Given the description of an element on the screen output the (x, y) to click on. 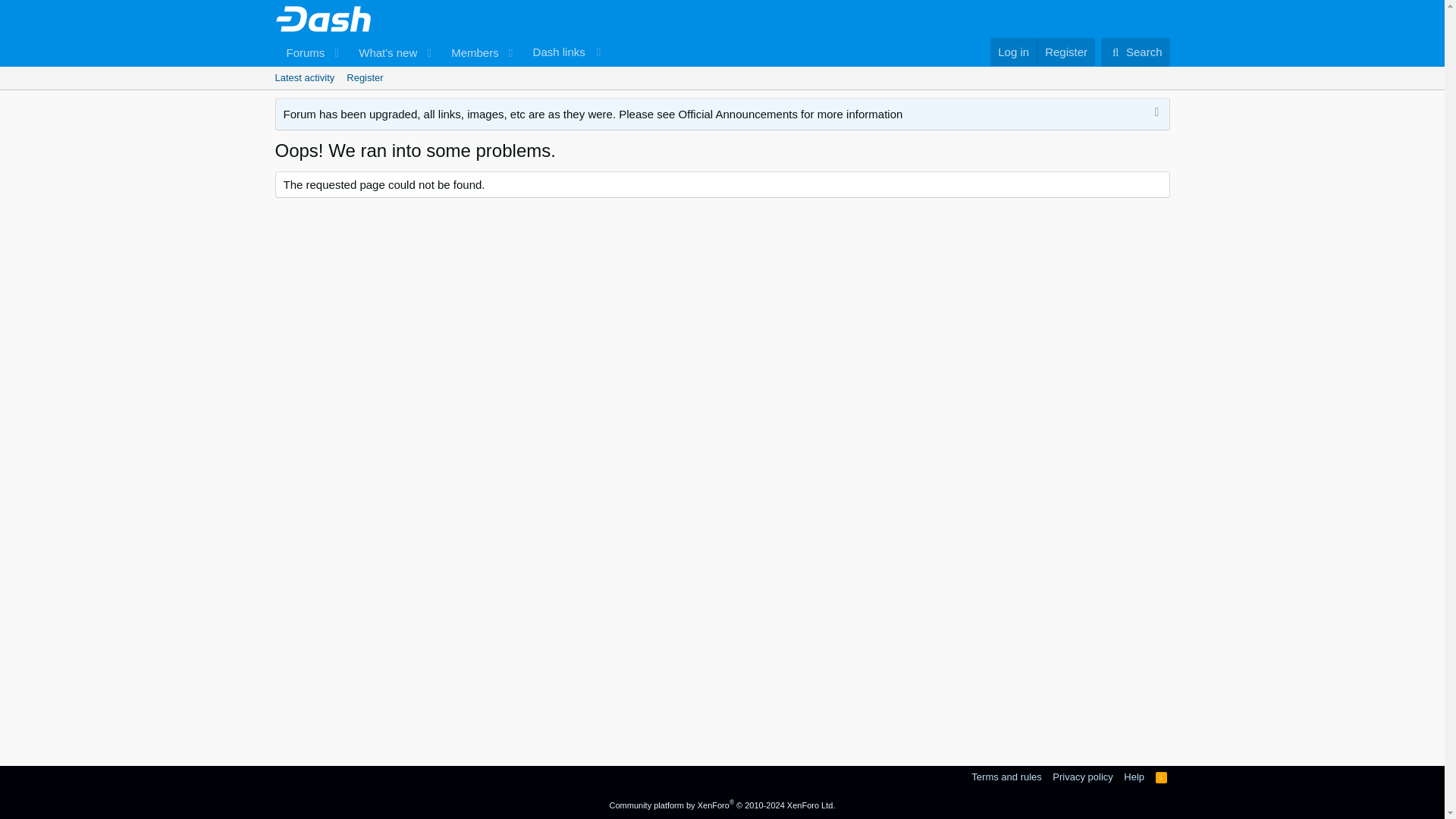
Terms and rules (720, 77)
Dismiss notice (1005, 776)
Register (1154, 114)
RSS (1065, 51)
Help (1161, 776)
Privacy policy (1134, 776)
RSS (1082, 776)
Search (1161, 776)
Members (1135, 51)
Search (469, 52)
Dash links (1135, 51)
Latest activity (565, 51)
Register (440, 51)
